Given the description of an element on the screen output the (x, y) to click on. 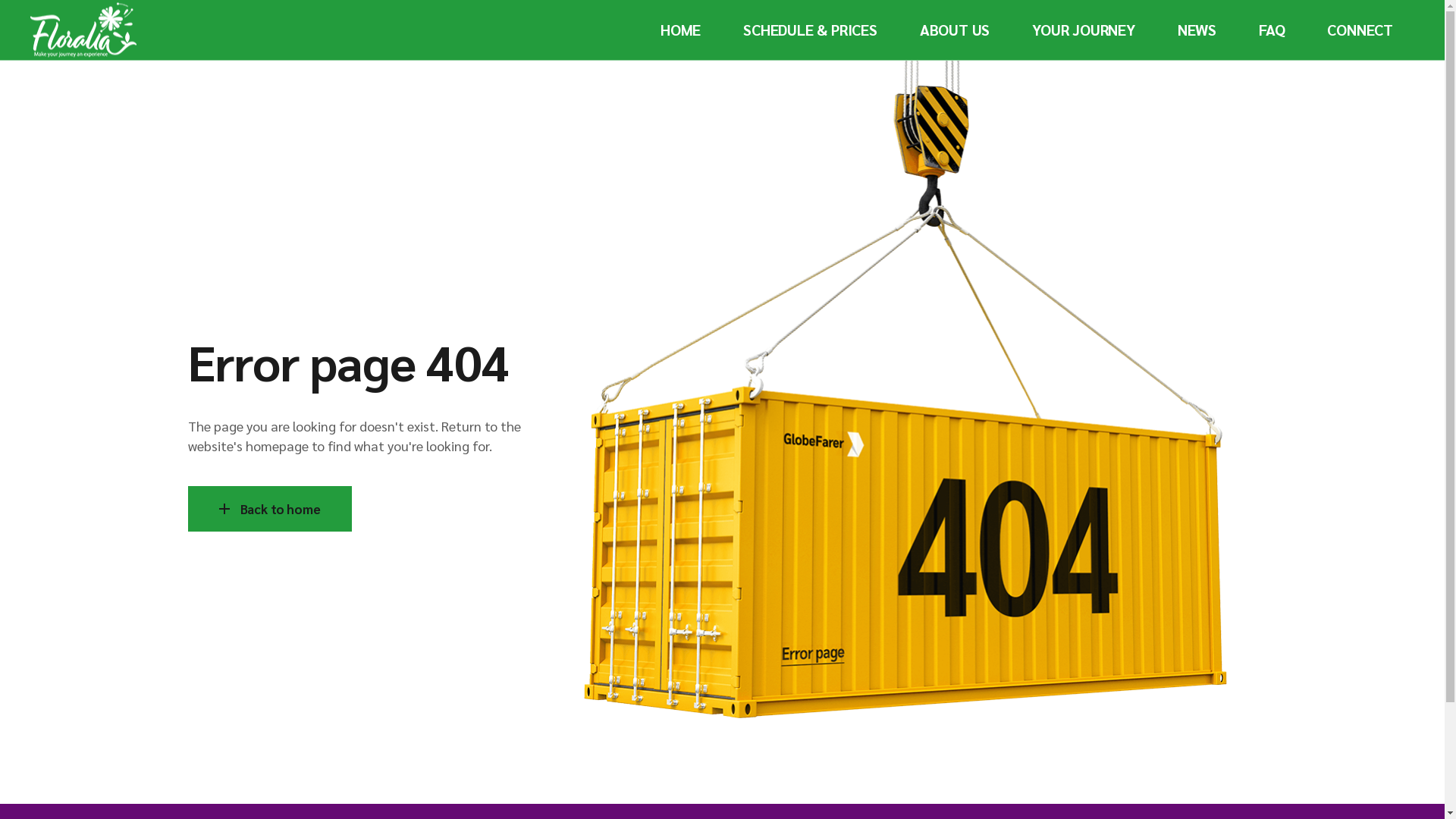
SCHEDULE & PRICES Element type: text (810, 29)
FAQ Element type: text (1271, 29)
NEWS Element type: text (1196, 29)
YOUR JOURNEY Element type: text (1083, 29)
Back to home Element type: text (269, 508)
HOME Element type: text (680, 29)
CONNECT Element type: text (1360, 29)
ABOUT US Element type: text (954, 29)
